Given the description of an element on the screen output the (x, y) to click on. 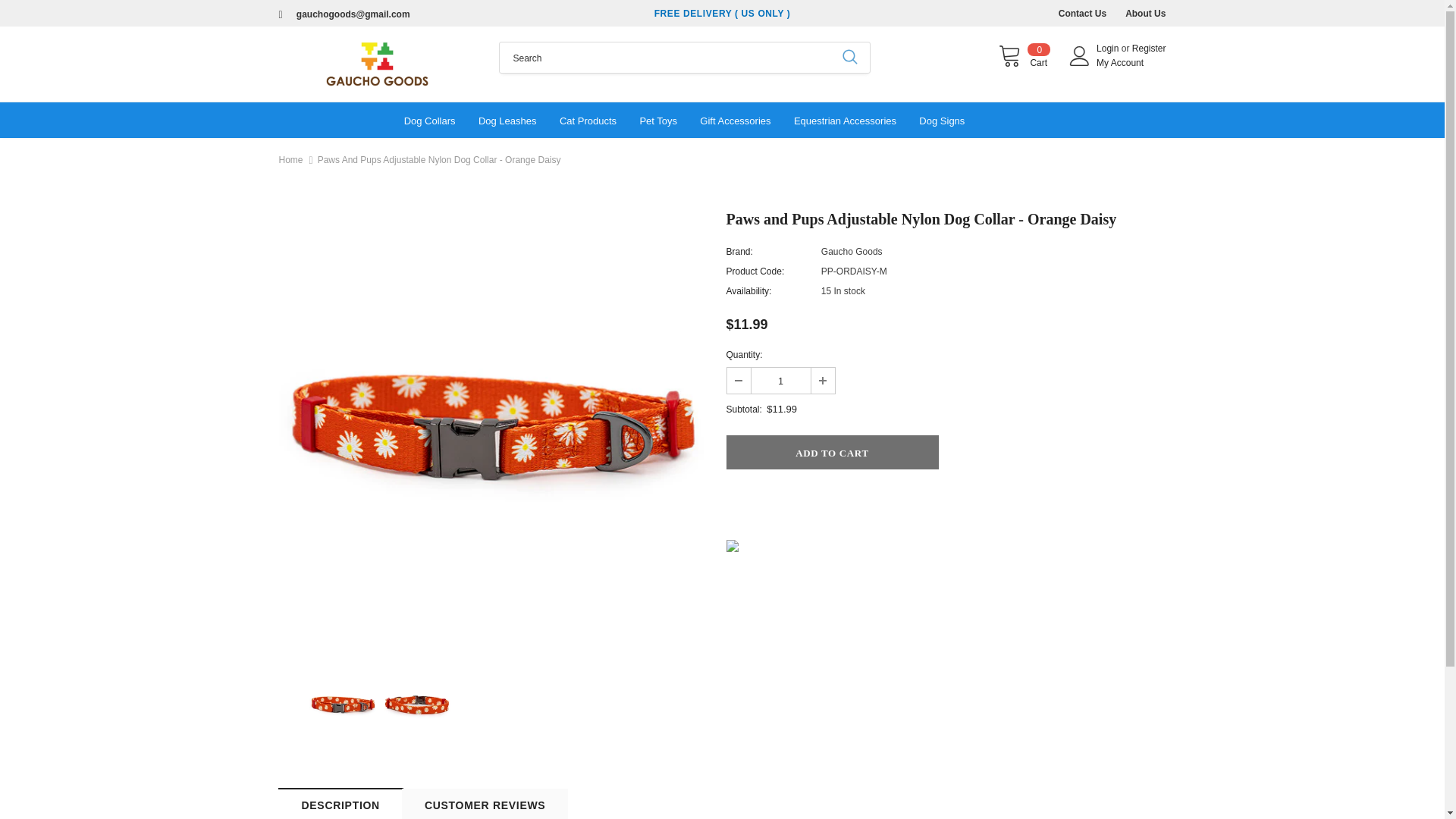
Cat Products (587, 120)
Logo (377, 63)
My Account (1023, 56)
Dog Signs (1119, 62)
Register (940, 120)
Pet Toys (1149, 48)
Contact Us (658, 120)
Equestrian Accessories (1082, 13)
About Us (844, 120)
1 (1145, 13)
Gift Accessories (780, 380)
Login (735, 120)
Dog Leashes (1108, 48)
Add to cart (508, 120)
